Given the description of an element on the screen output the (x, y) to click on. 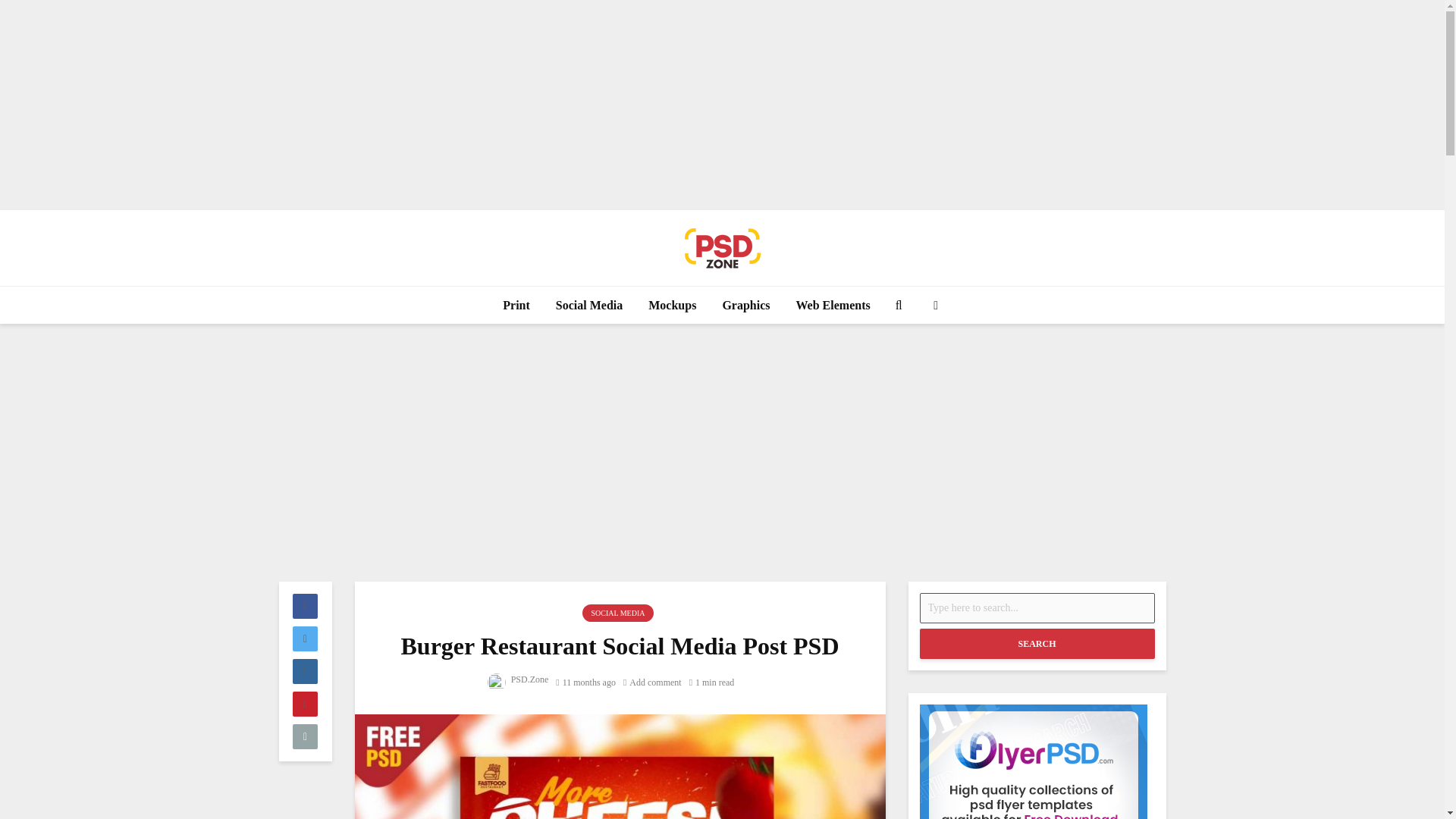
Web Elements (832, 305)
Print (516, 305)
Mockups (672, 305)
Social Media (588, 305)
Graphics (745, 305)
